Given the description of an element on the screen output the (x, y) to click on. 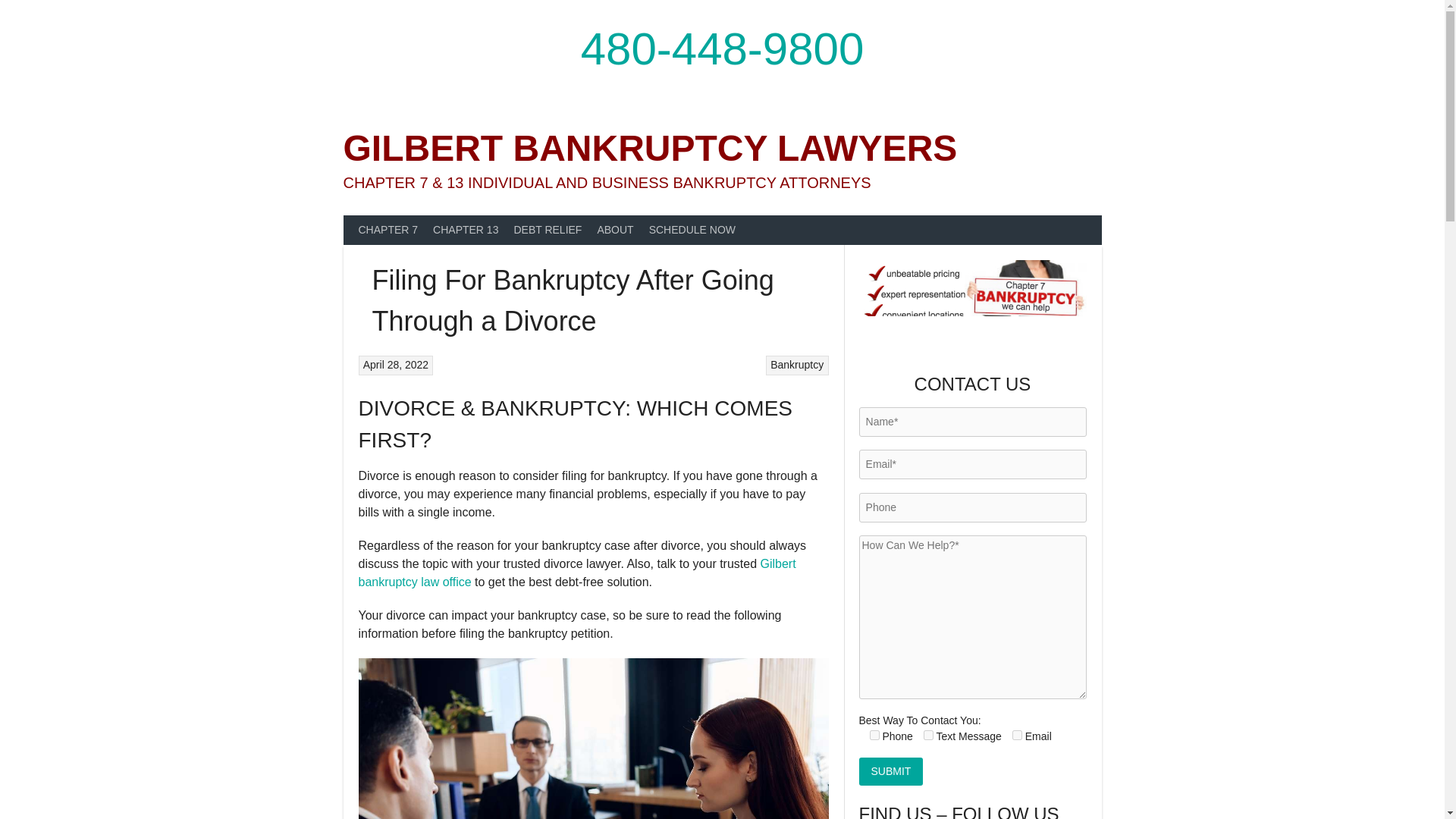
Email (1016, 735)
Phone (874, 735)
CHAPTER 13 (465, 229)
DEBT RELIEF (547, 229)
SUBMIT (891, 771)
Bankruptcy (797, 364)
Gilbert bankruptcy law office (576, 572)
GILBERT BANKRUPTCY LAWYERS (649, 147)
SUBMIT (891, 771)
ABOUT (614, 229)
